Given the description of an element on the screen output the (x, y) to click on. 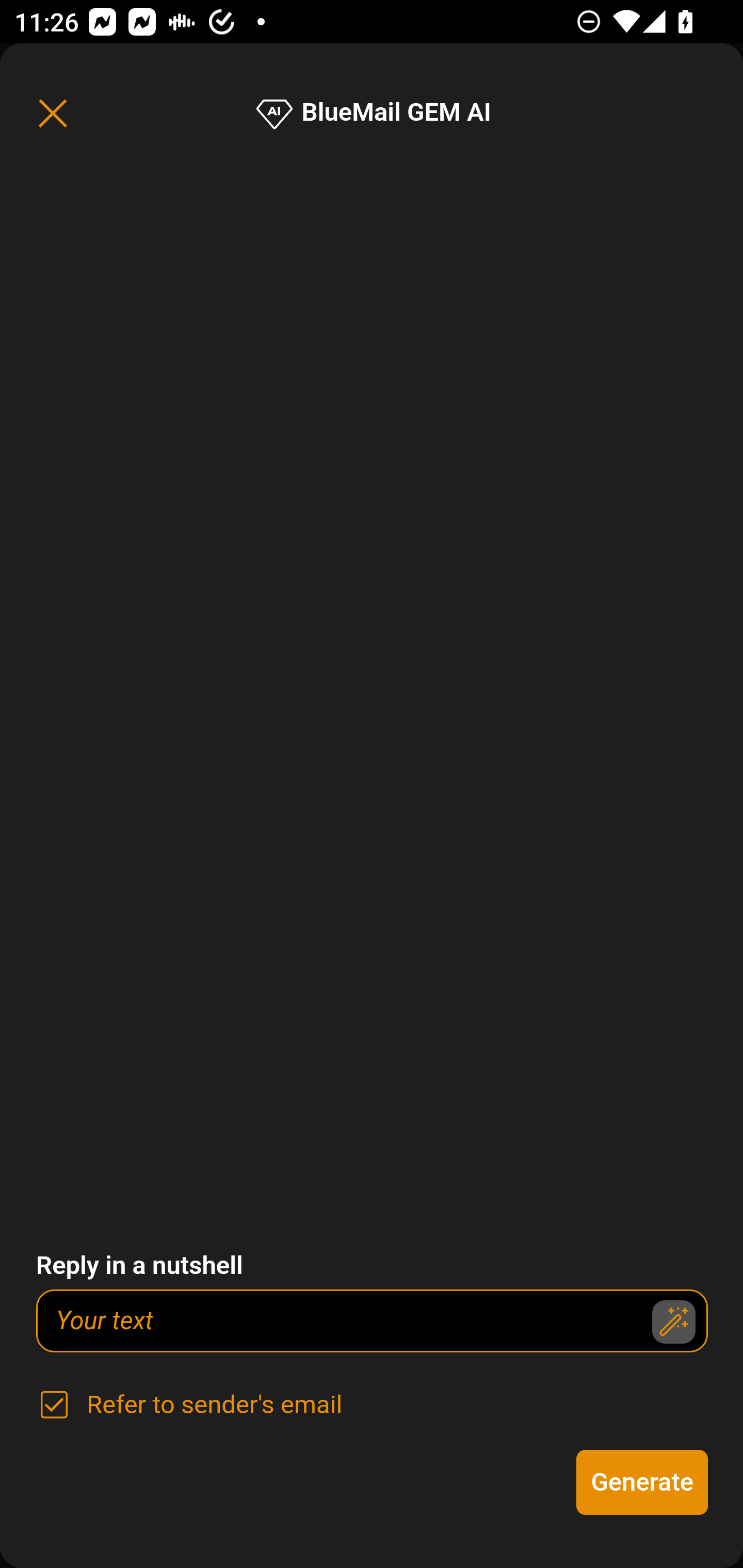
Generate (642, 1482)
